Given the description of an element on the screen output the (x, y) to click on. 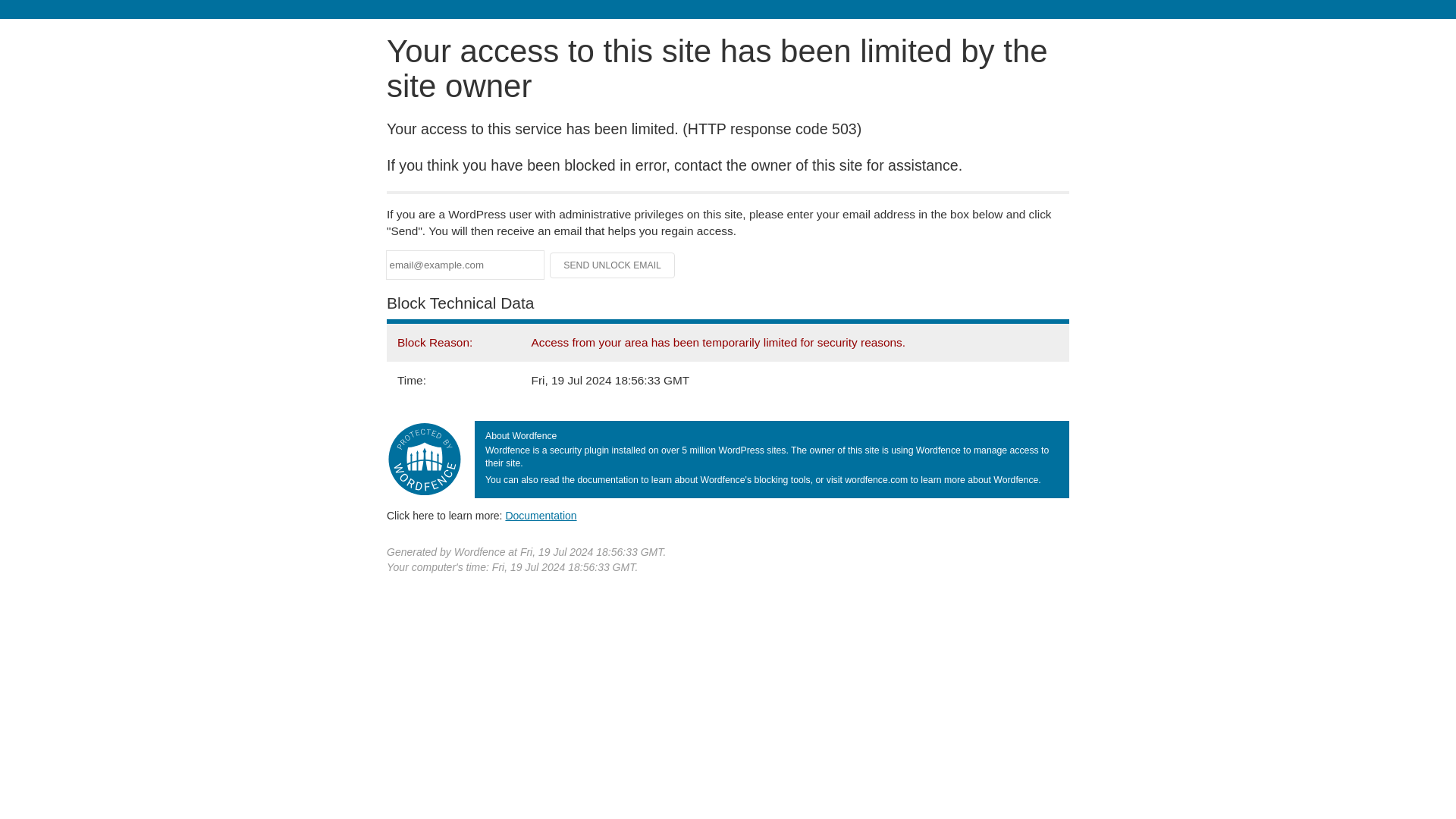
Send Unlock Email (612, 265)
Send Unlock Email (612, 265)
Documentation (540, 515)
